Given the description of an element on the screen output the (x, y) to click on. 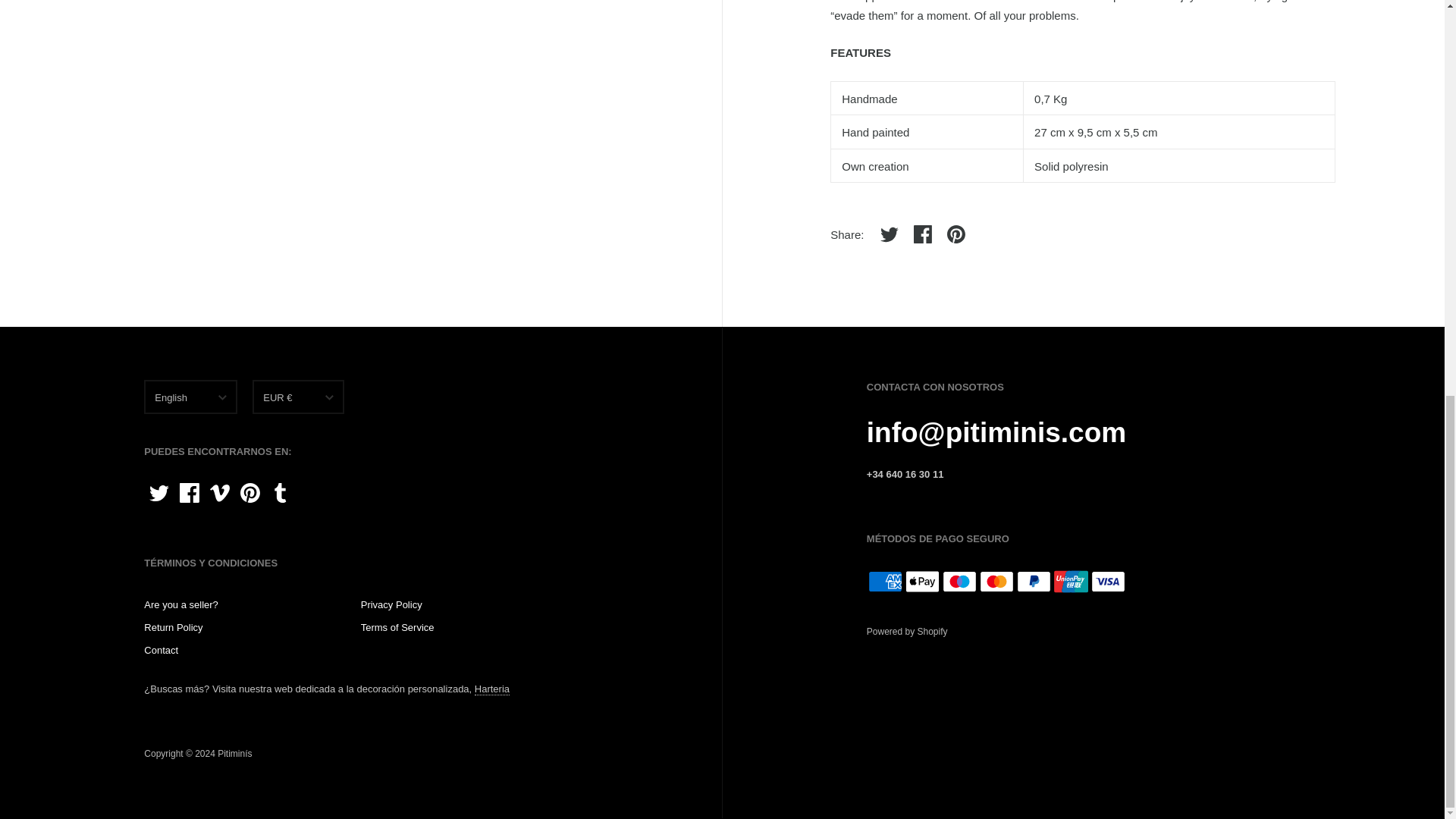
EUR (297, 454)
Are you a seller? (181, 604)
GBP (297, 482)
en (190, 454)
DKK kr. (297, 426)
